Given the description of an element on the screen output the (x, y) to click on. 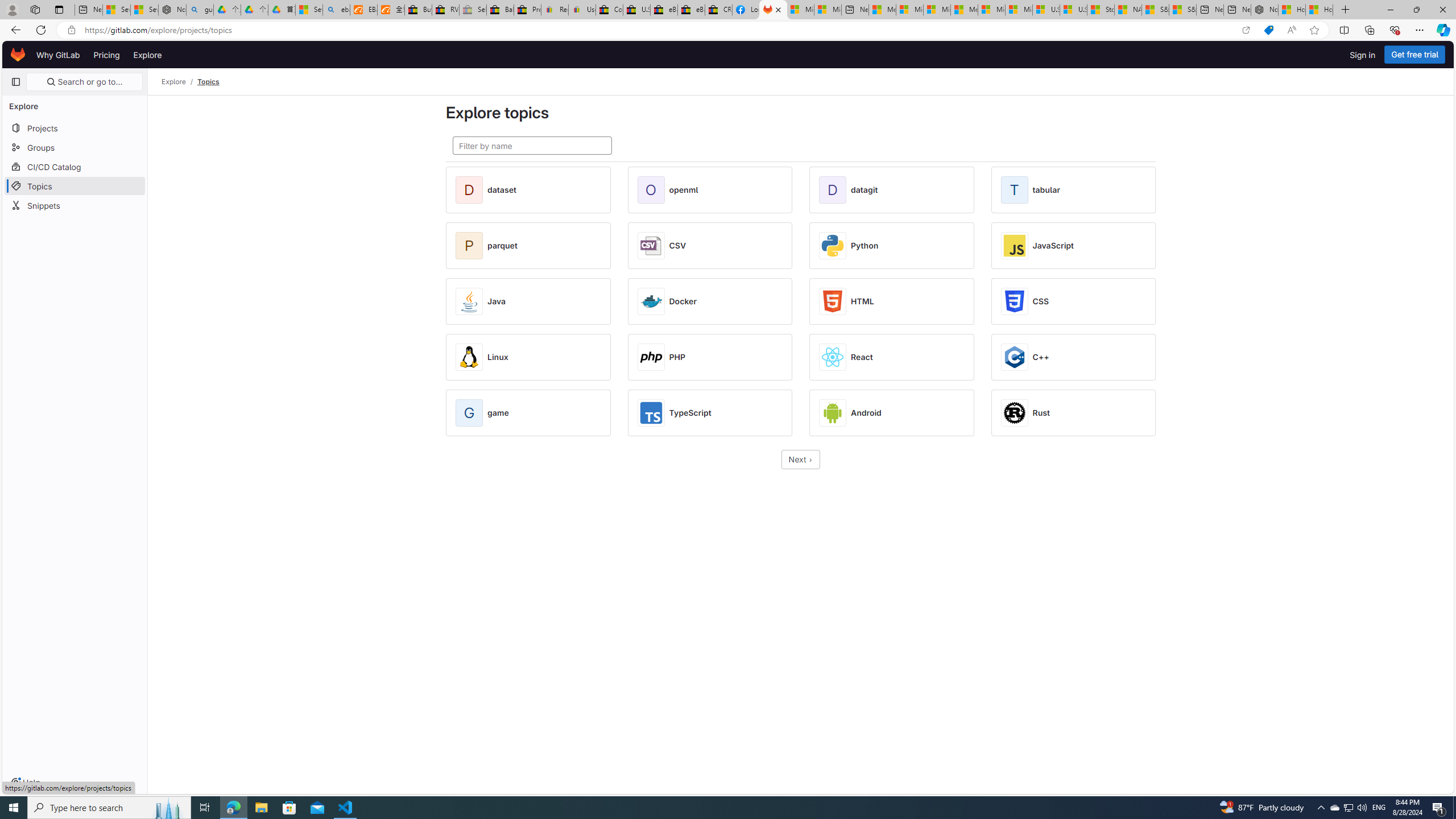
Python (864, 245)
React (861, 356)
Why GitLab (58, 54)
openml (683, 189)
